Given the description of an element on the screen output the (x, y) to click on. 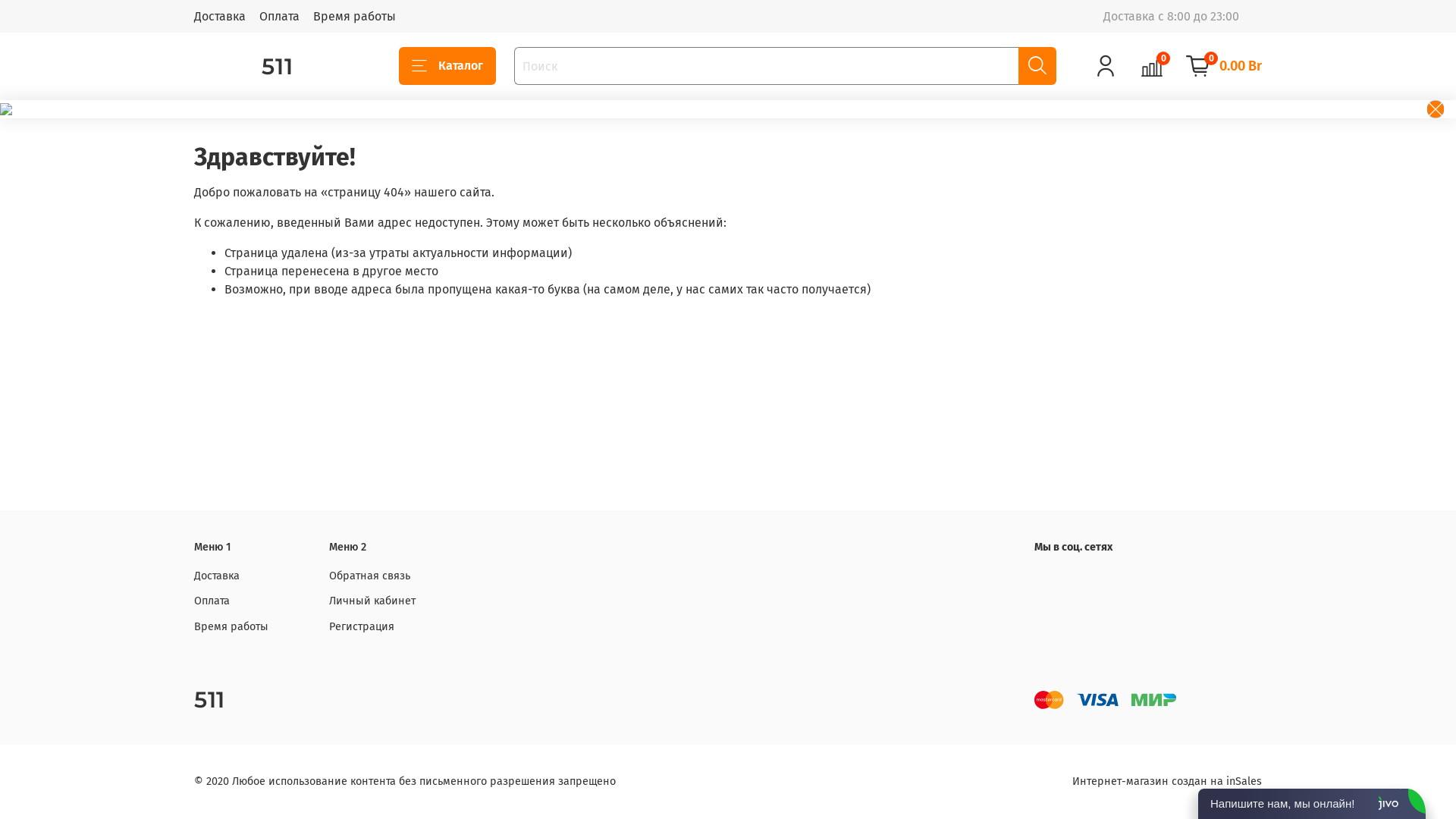
0
0.00 Br Element type: text (1223, 65)
0 Element type: text (1151, 65)
